Given the description of an element on the screen output the (x, y) to click on. 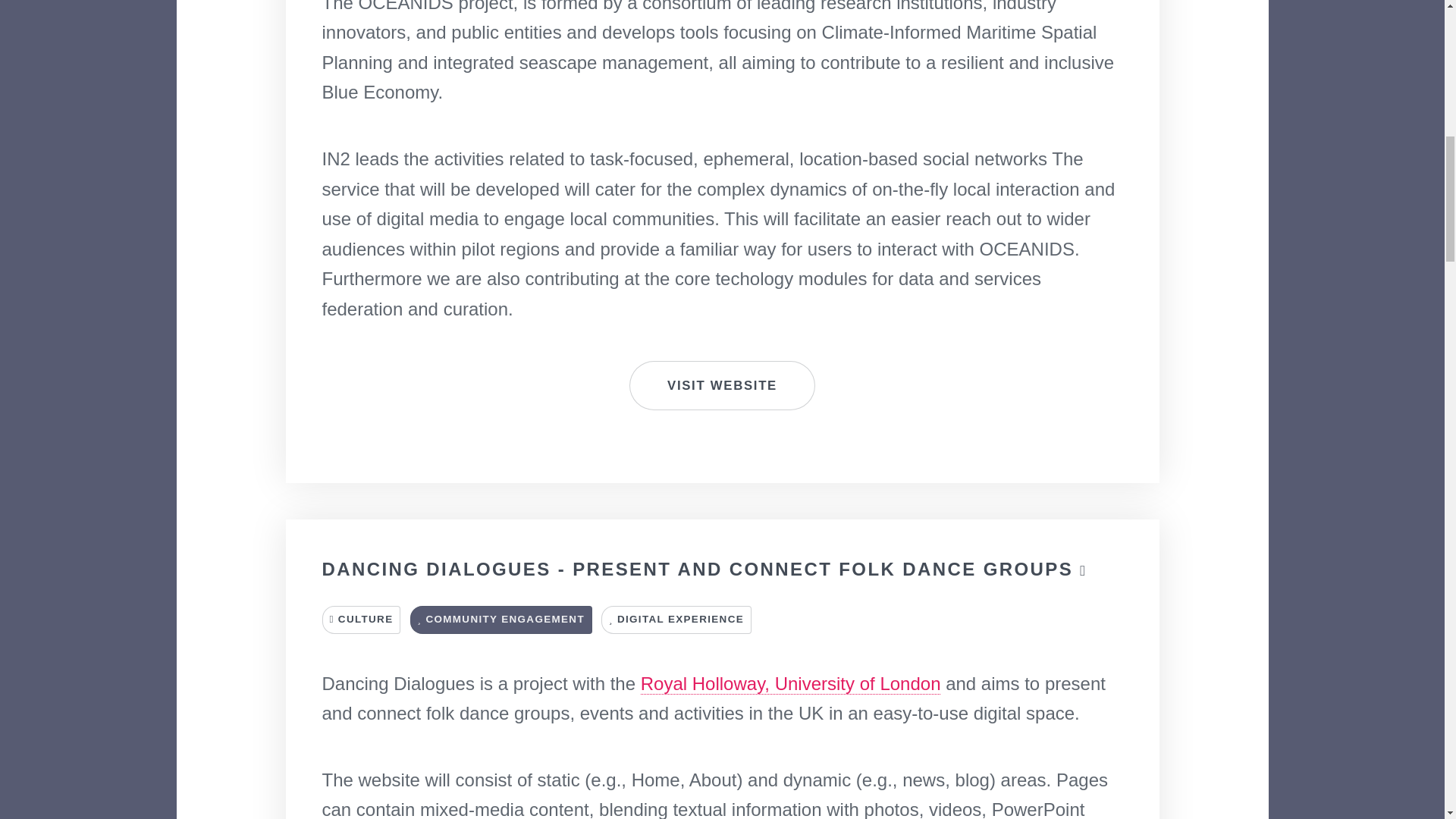
VISIT WEBSITE (721, 386)
Royal Holloway, University of London (790, 683)
COMMUNITY ENGAGEMENT (501, 619)
DIGITAL EXPERIENCE (676, 619)
CULTURE (360, 619)
